Given the description of an element on the screen output the (x, y) to click on. 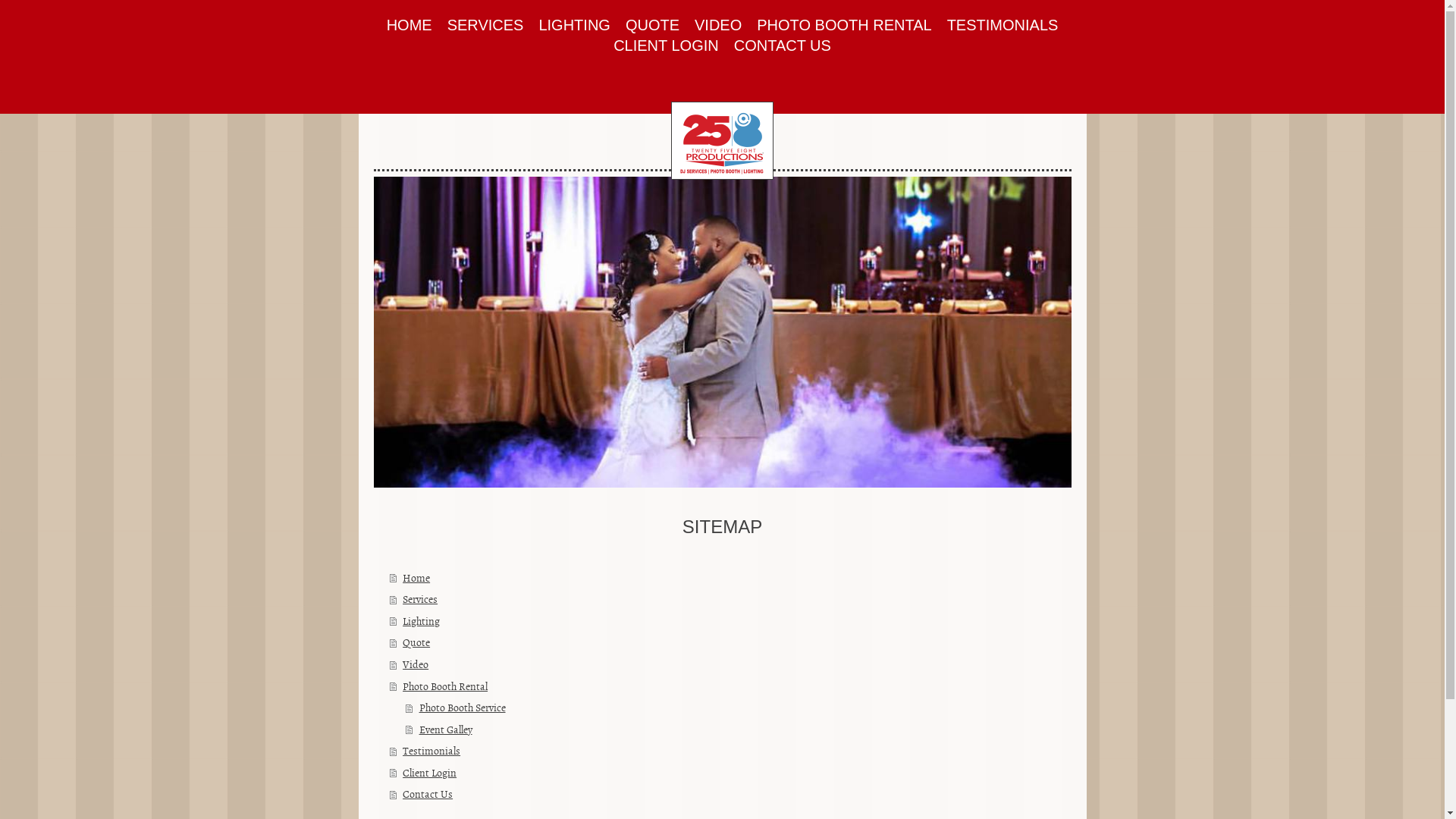
Services Element type: text (730, 599)
TESTIMONIALS Element type: text (1002, 25)
SERVICES Element type: text (485, 25)
Lighting Element type: text (730, 621)
Home Element type: text (730, 578)
HOME Element type: text (409, 25)
Client Login Element type: text (730, 773)
VIDEO Element type: text (718, 25)
CONTACT US Element type: text (782, 45)
PHOTO BOOTH RENTAL Element type: text (843, 25)
Event Galley Element type: text (737, 729)
CLIENT LOGIN Element type: text (665, 45)
Contact Us Element type: text (730, 794)
Quote Element type: text (730, 642)
QUOTE Element type: text (652, 25)
Photo Booth Service Element type: text (737, 707)
Video Element type: text (730, 664)
Testimonials Element type: text (730, 751)
LIGHTING Element type: text (573, 25)
Photo Booth Rental Element type: text (730, 686)
